Given the description of an element on the screen output the (x, y) to click on. 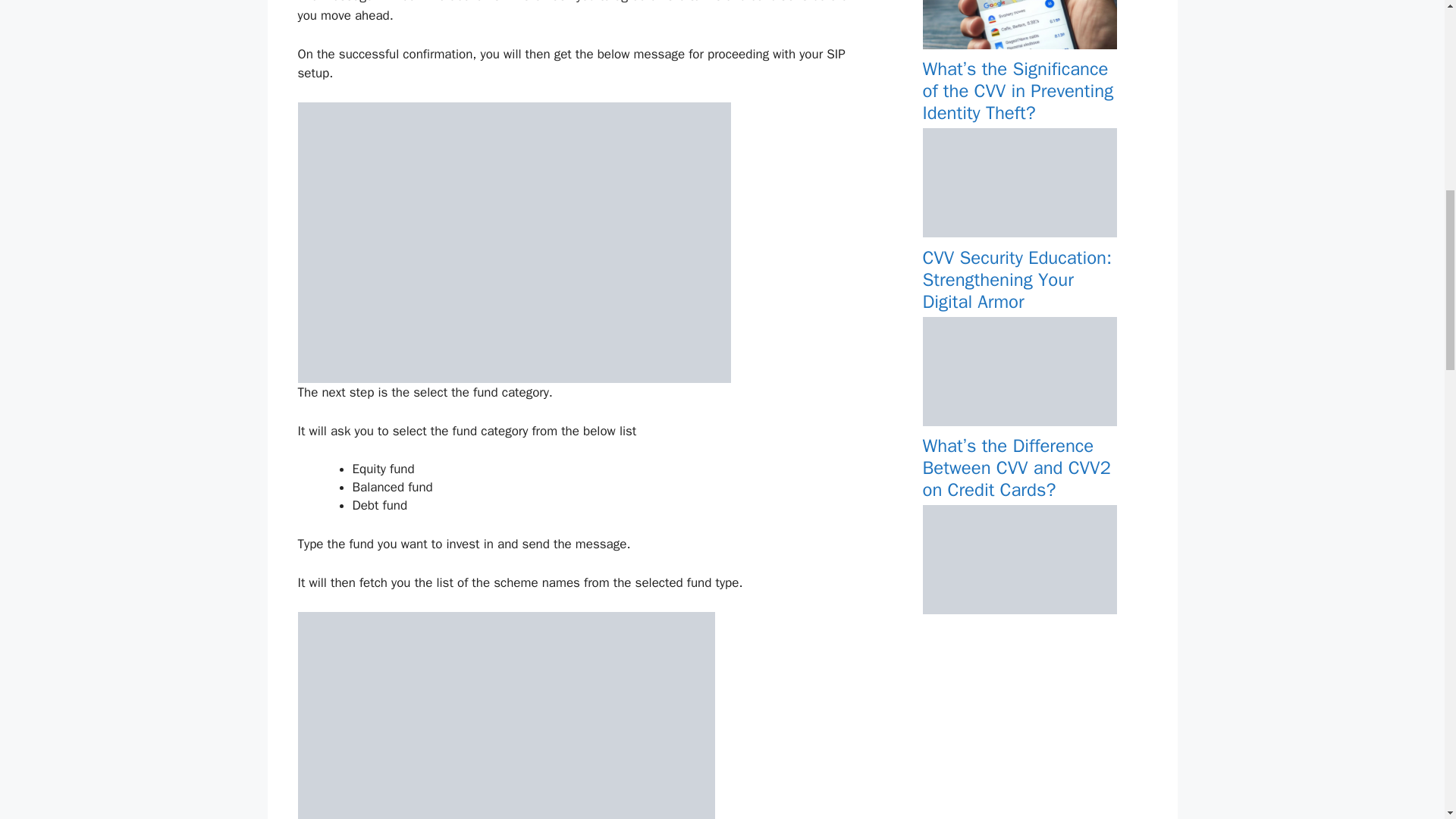
CVV Security Education: Strengthening Your Digital Armor (1016, 279)
CVV Security Education: Strengthening Your Digital Armor (1018, 421)
Scroll back to top (1406, 720)
